Given the description of an element on the screen output the (x, y) to click on. 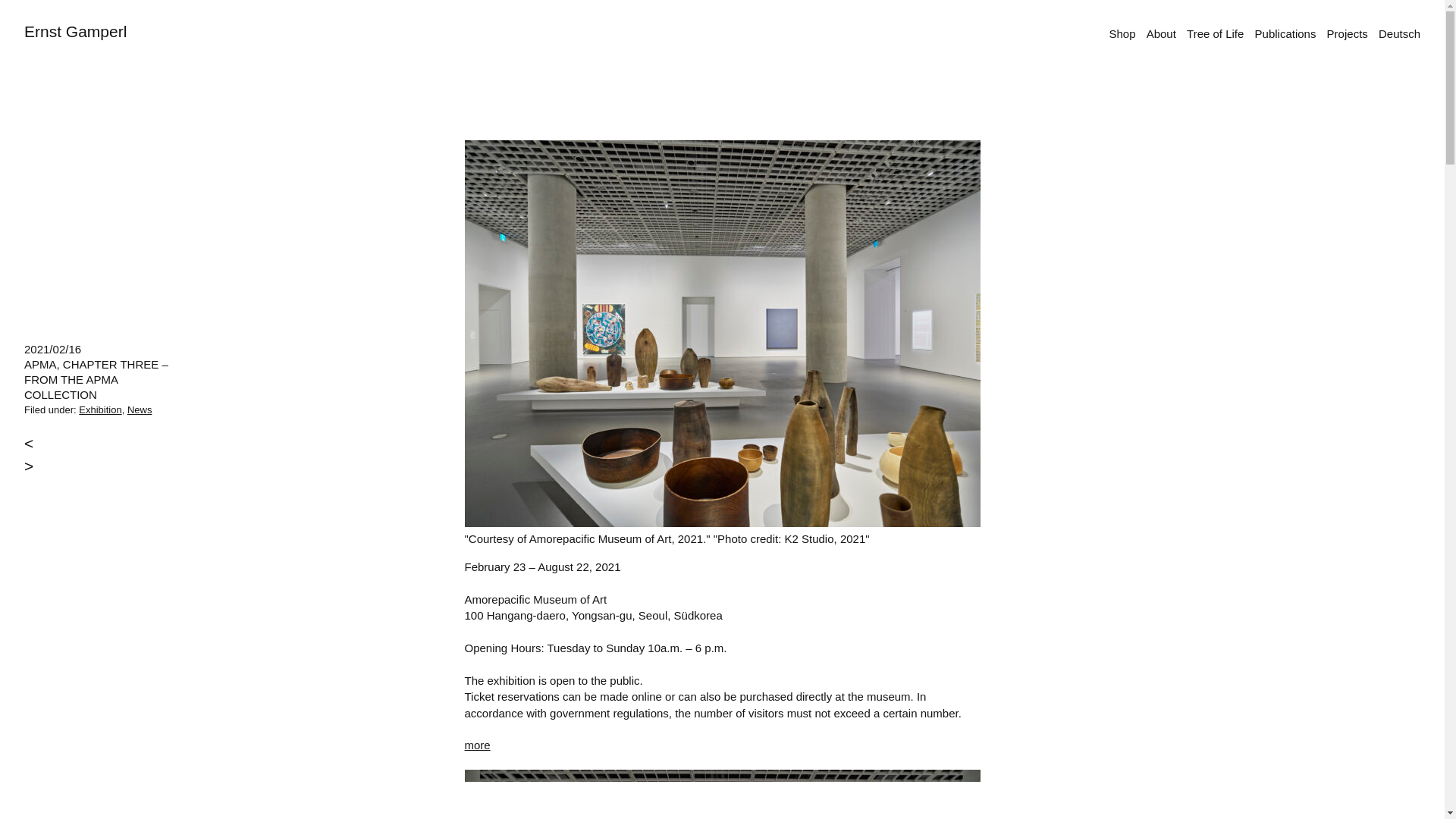
more (476, 744)
Exhibition (99, 409)
Shop (1121, 33)
Deutsch (1399, 33)
Deutsch (1399, 33)
Tree of Life (1214, 33)
News (140, 409)
Ernst Gamperl (75, 31)
Projects (1347, 33)
